Given the description of an element on the screen output the (x, y) to click on. 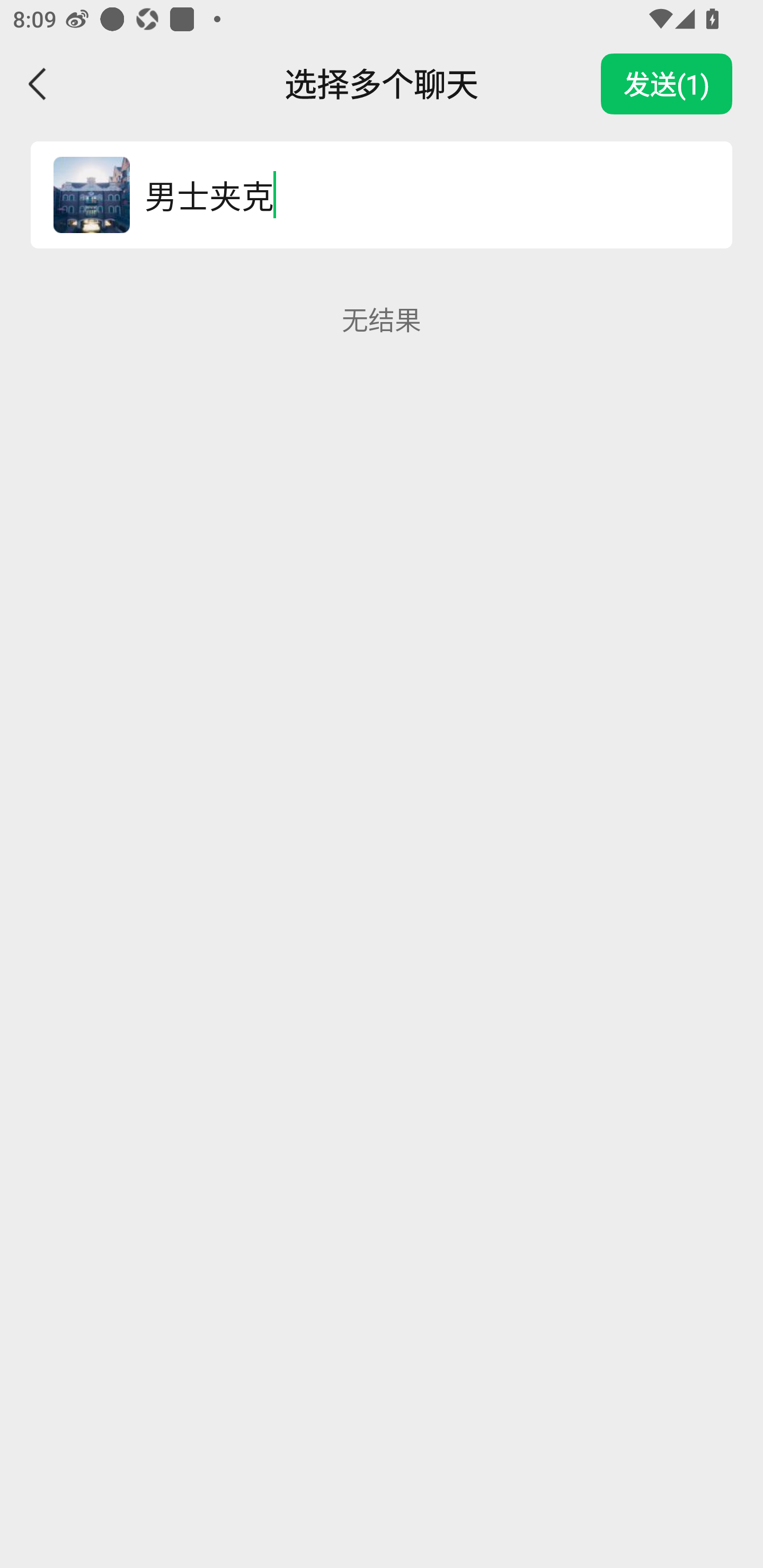
返回 (38, 83)
发送(1) (666, 83)
CYX (91, 194)
男士夹克 (418, 194)
